Given the description of an element on the screen output the (x, y) to click on. 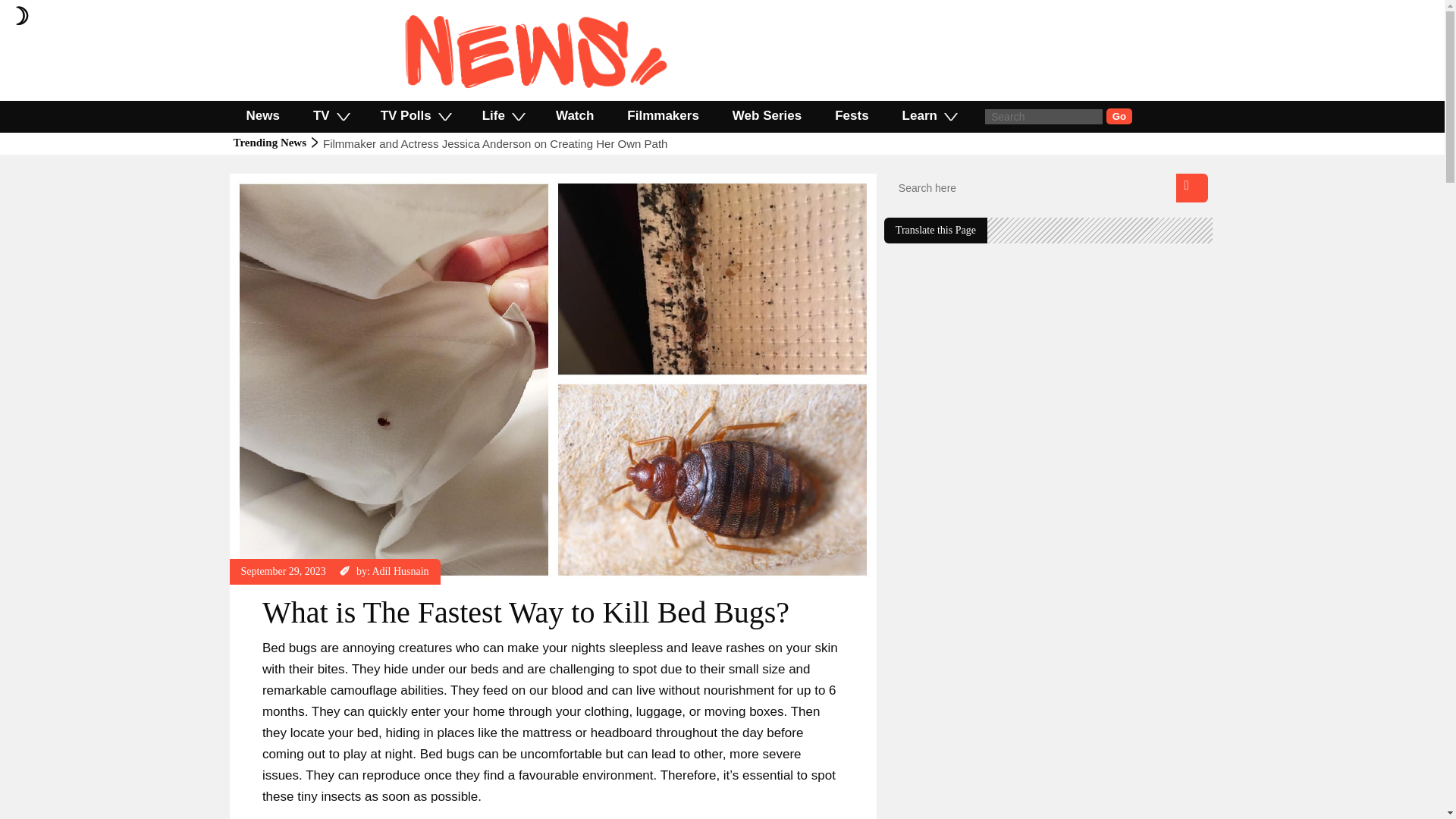
Life (501, 115)
Go (1119, 116)
Learn (928, 115)
September 29, 2023 (283, 571)
Fests (851, 115)
Web Series (767, 115)
Filmmakers (663, 115)
Watch (574, 115)
Go (1119, 116)
Lifestyle (259, 180)
